Given the description of an element on the screen output the (x, y) to click on. 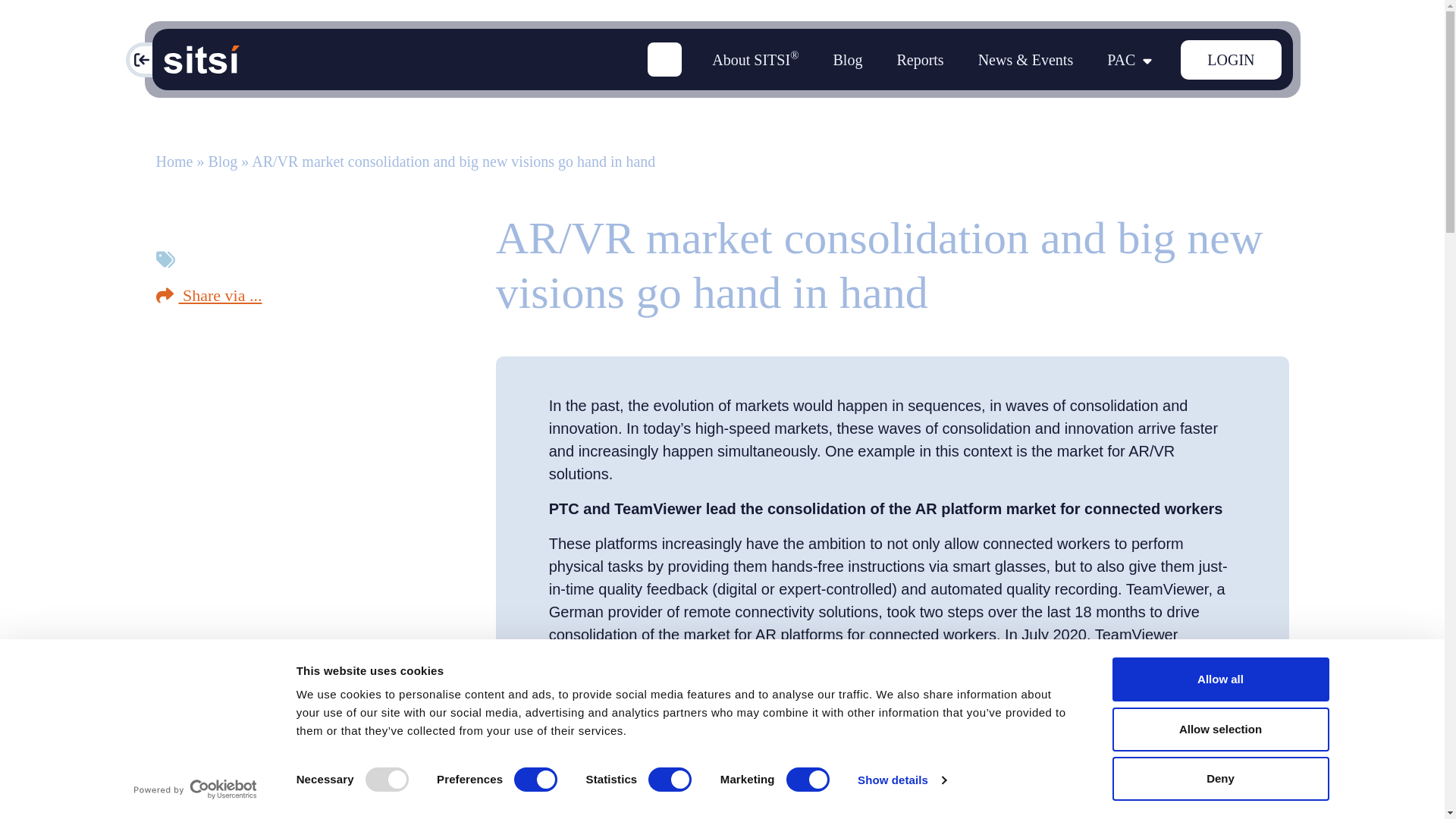
Allow selection (1219, 728)
Allow all (1219, 679)
        PAC         (183, 57)
Show details (900, 780)
Deny (1219, 778)
